Given the description of an element on the screen output the (x, y) to click on. 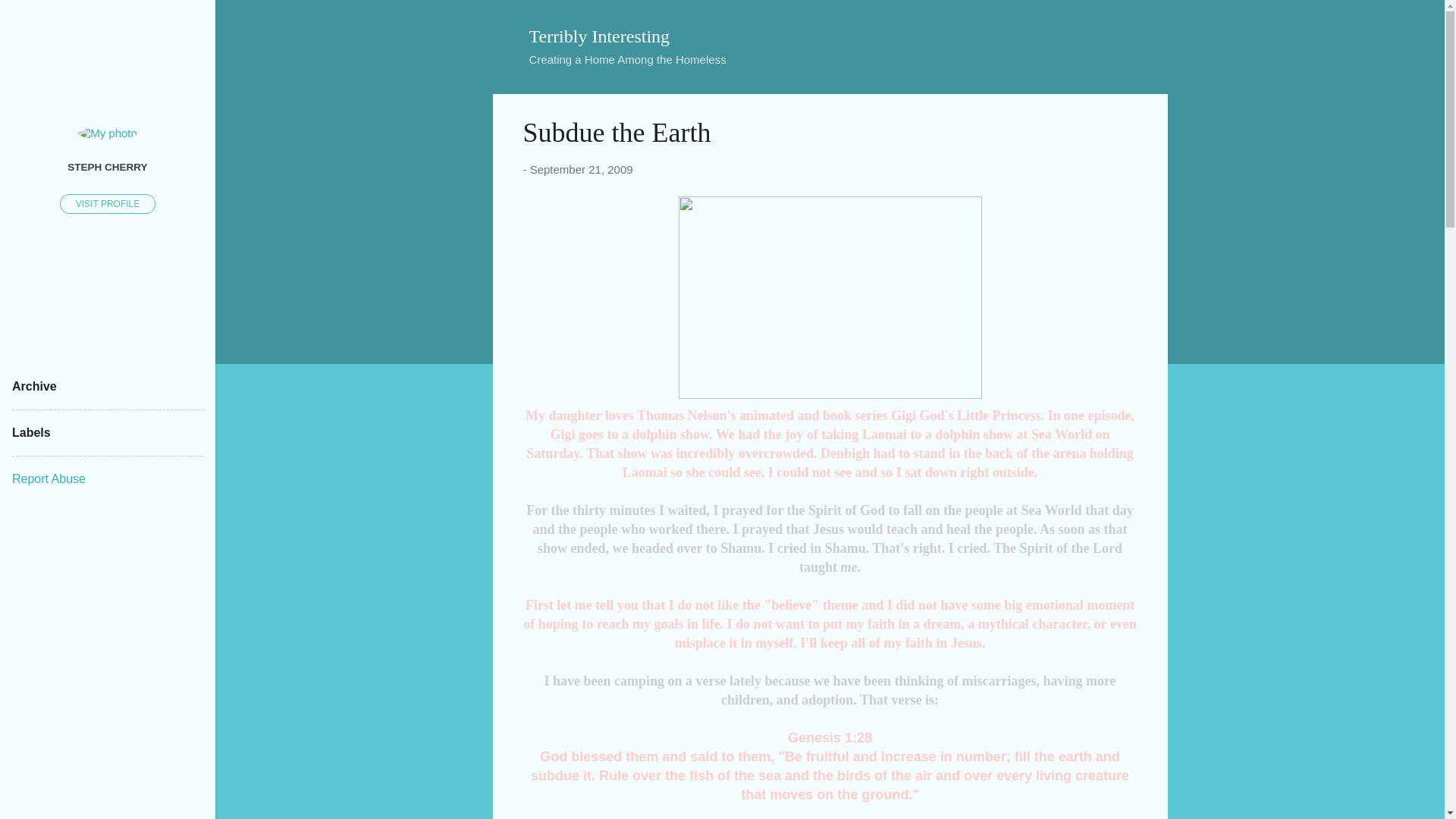
Genesis 1:28 (829, 737)
Terribly Interesting (599, 35)
Search (29, 18)
permanent link (581, 169)
September 21, 2009 (581, 169)
